Given the description of an element on the screen output the (x, y) to click on. 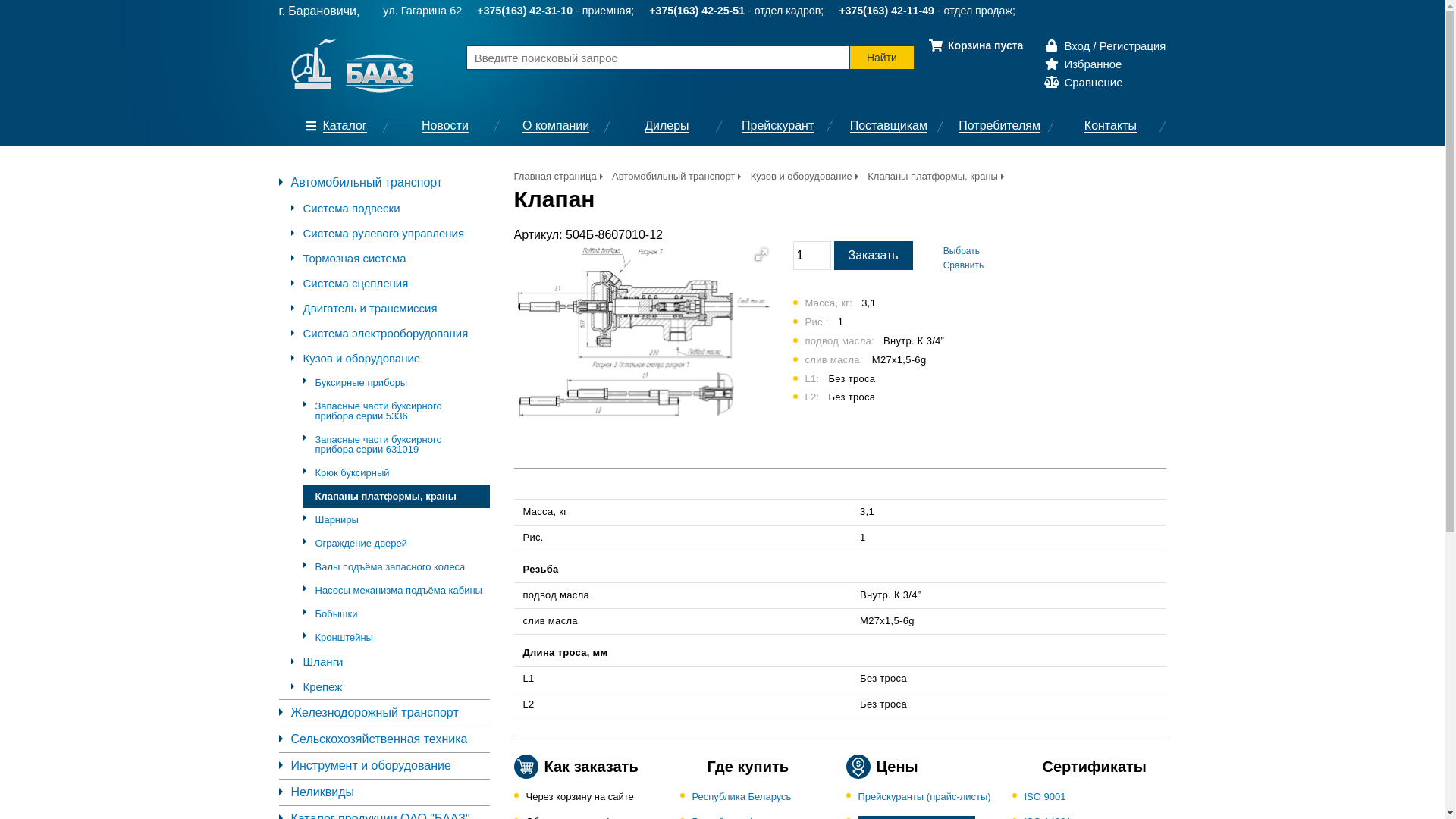
ISO 9001 Element type: text (1044, 796)
